Given the description of an element on the screen output the (x, y) to click on. 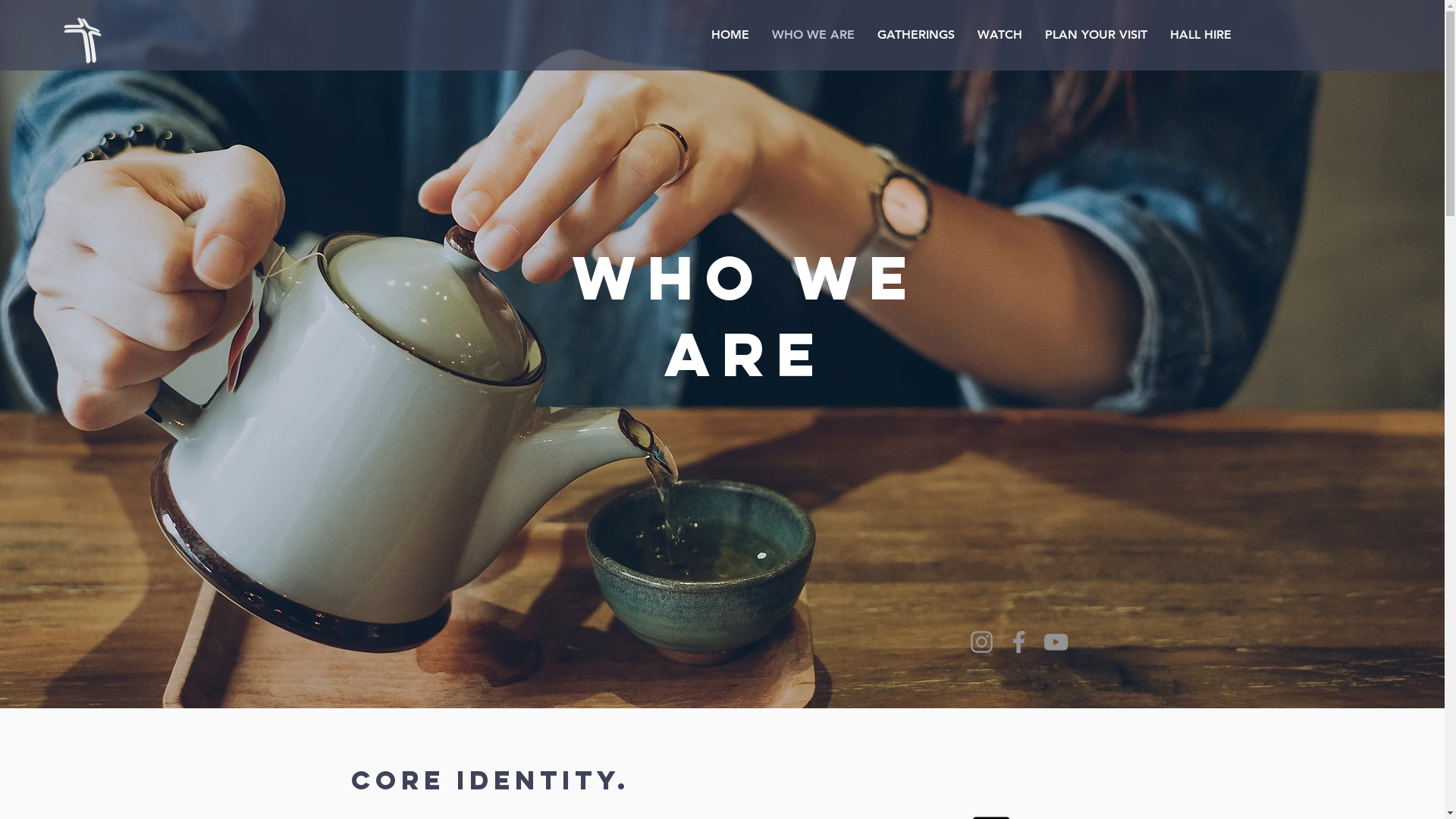
PLAN YOUR VISIT Element type: text (1094, 34)
HALL HIRE Element type: text (1200, 34)
WHO WE ARE Element type: text (812, 34)
WATCH Element type: text (999, 34)
HOME Element type: text (729, 34)
GATHERINGS Element type: text (916, 34)
